Given the description of an element on the screen output the (x, y) to click on. 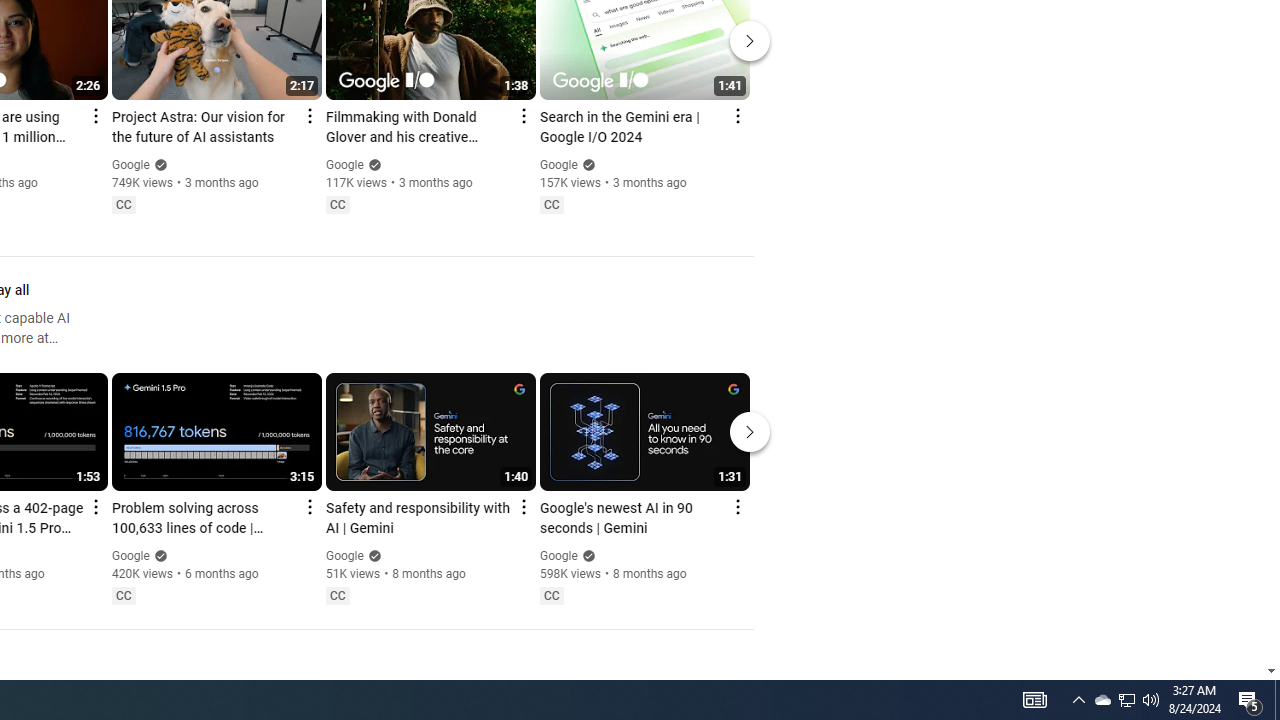
Action menu (736, 506)
Closed captions (551, 595)
Verified (586, 555)
